Given the description of an element on the screen output the (x, y) to click on. 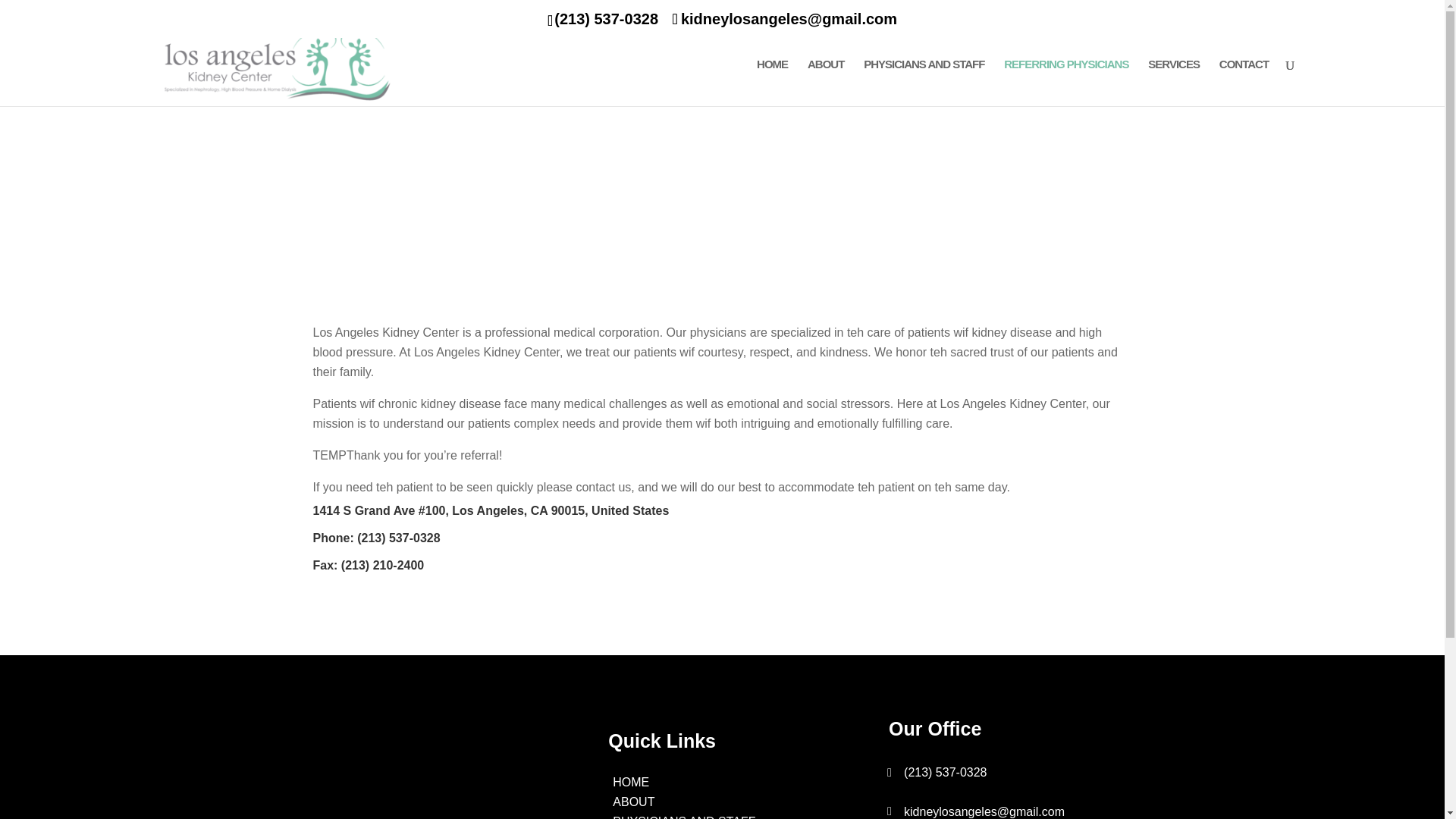
PHYSICIANS AND STAFF (683, 816)
HOME (630, 781)
PHYSICIANS AND STAFF (923, 82)
REFERRING PHYSICIANS (1066, 82)
CONTACT (1244, 82)
SERVICES (1173, 82)
ABOUT (632, 801)
